Given the description of an element on the screen output the (x, y) to click on. 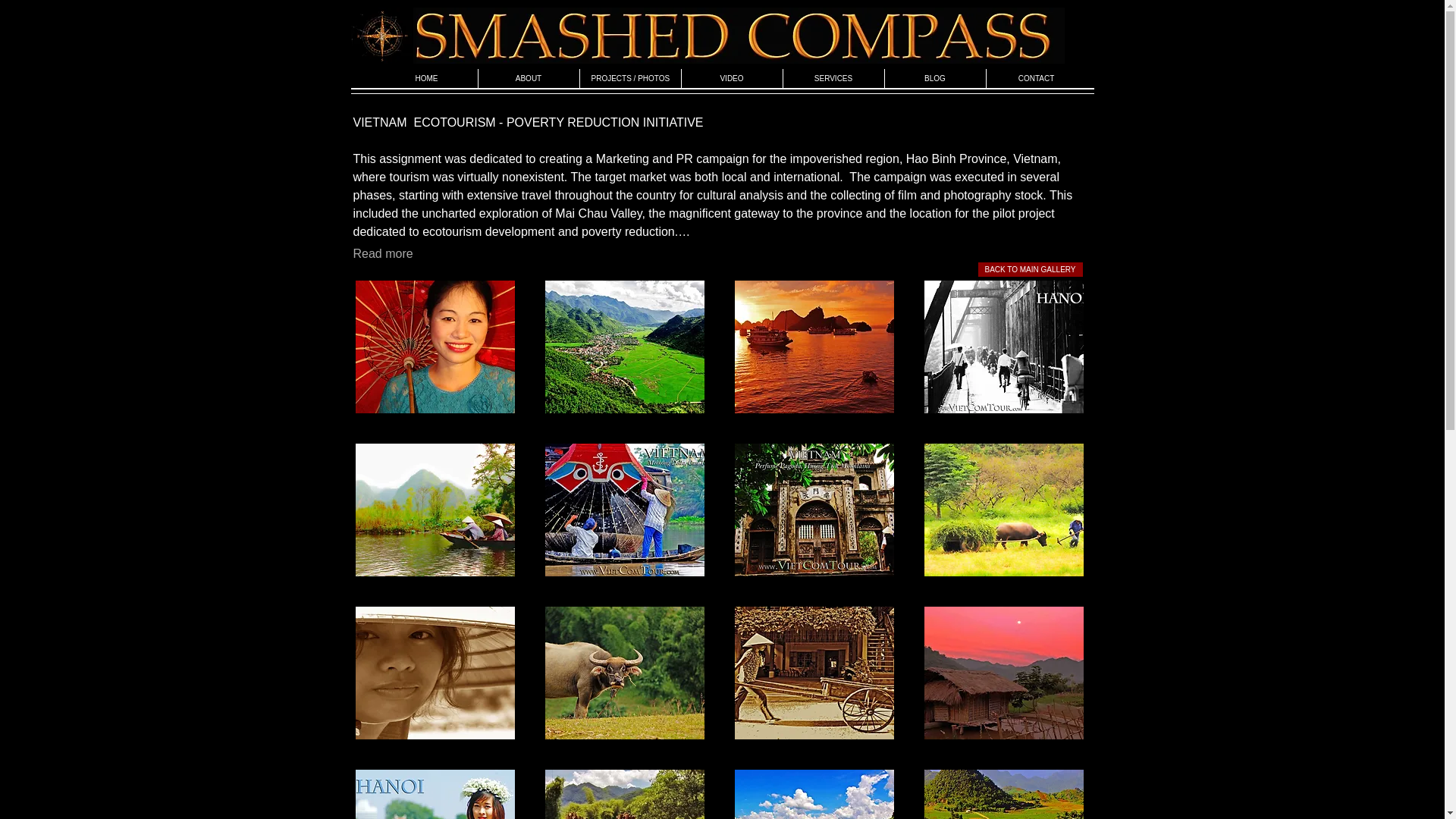
ABOUT (527, 77)
BACK TO MAIN GALLERY (1030, 269)
HOME (426, 77)
VIDEO (731, 77)
BLOG (934, 77)
CONTACT (1035, 77)
SERVICES (833, 77)
Read more (383, 253)
